Given the description of an element on the screen output the (x, y) to click on. 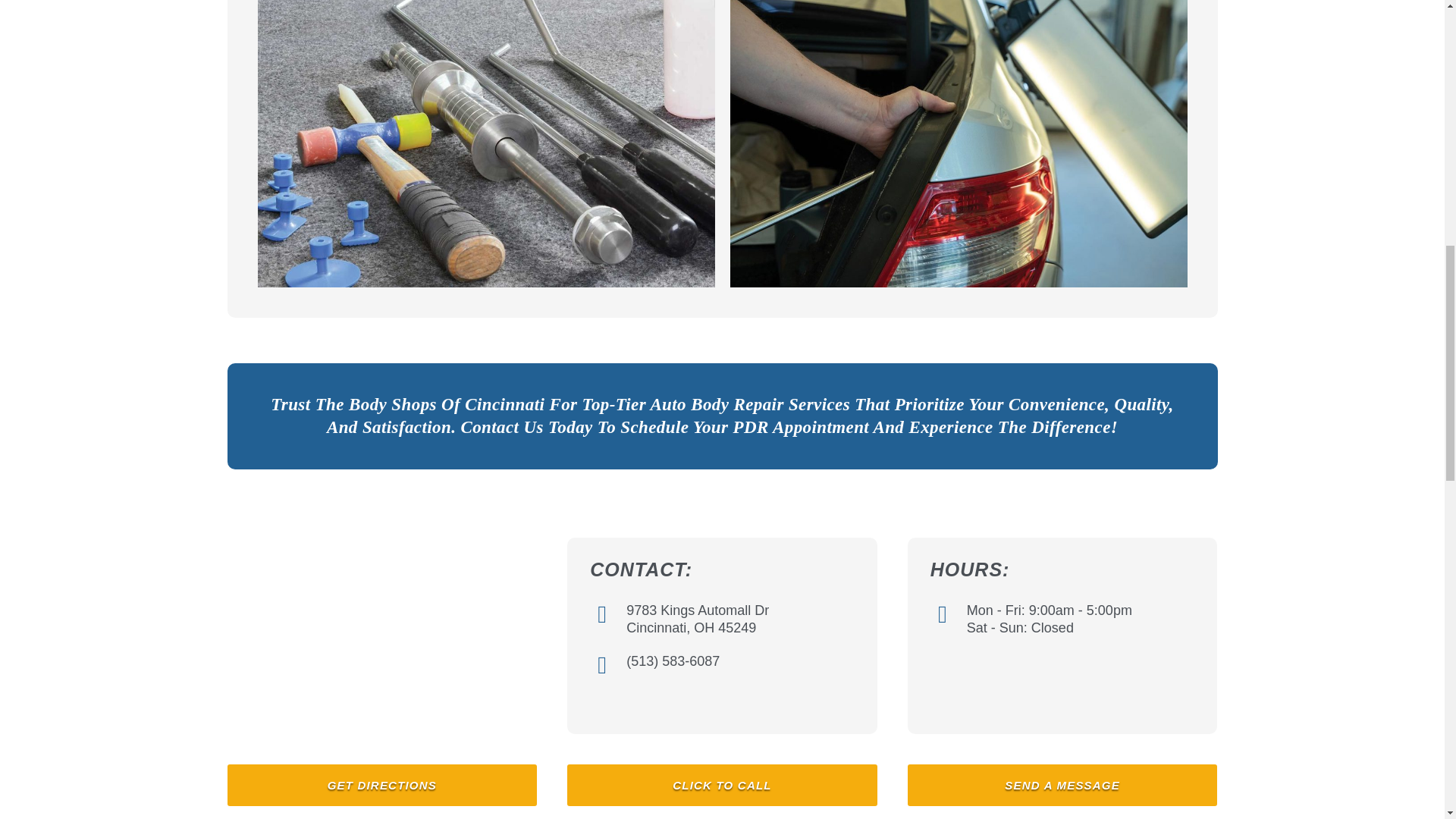
GET DIRECTIONS (382, 784)
SEND A MESSAGE (1062, 784)
CLICK TO CALL (722, 784)
